Given the description of an element on the screen output the (x, y) to click on. 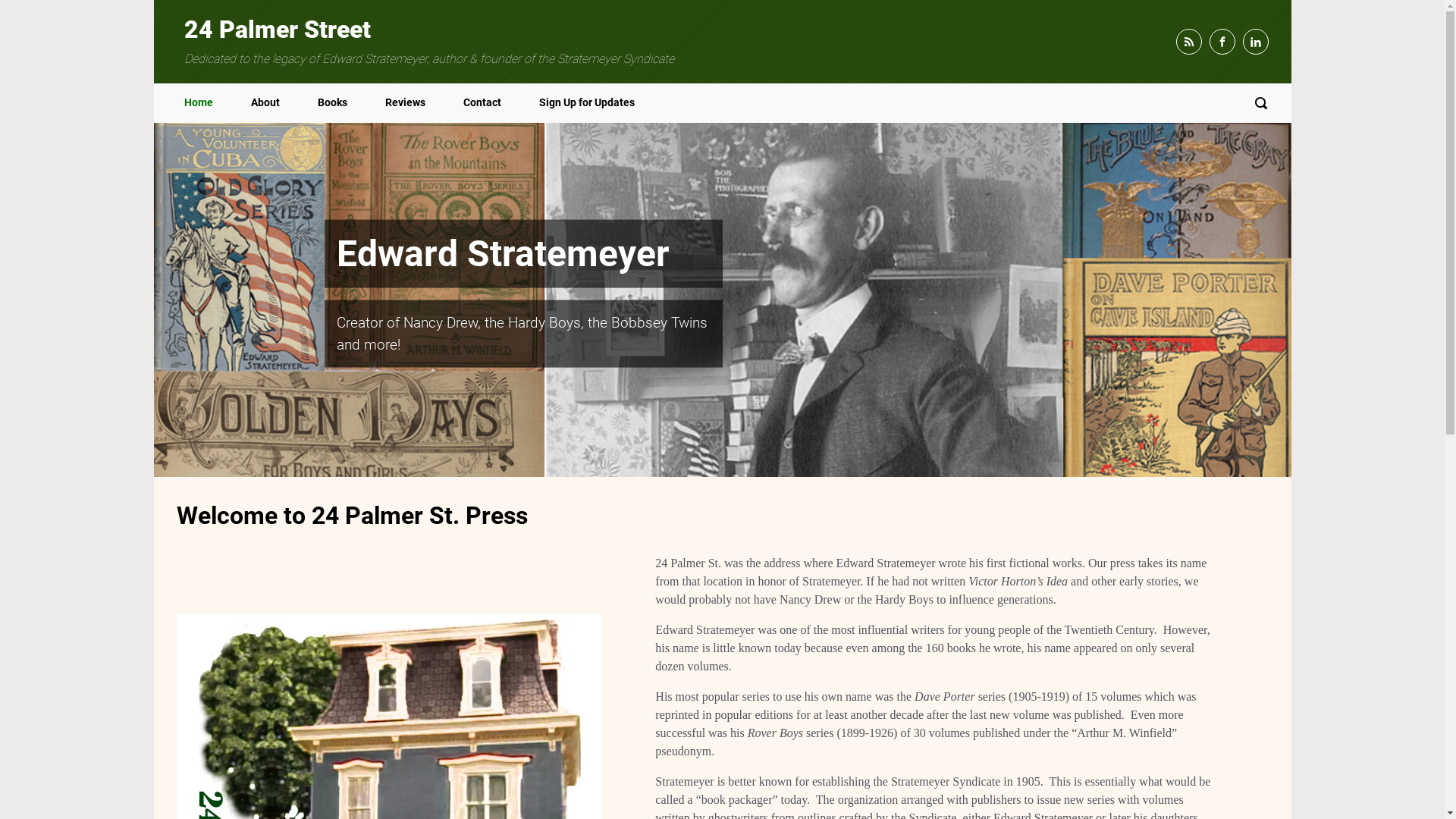
Home Element type: text (197, 102)
24 Palmer Street Element type: text (276, 29)
Sign Up for Updates Element type: text (586, 102)
Contact Element type: text (481, 102)
Reviews Element type: text (405, 102)
Books Element type: text (331, 102)
About Element type: text (264, 102)
